Given the description of an element on the screen output the (x, y) to click on. 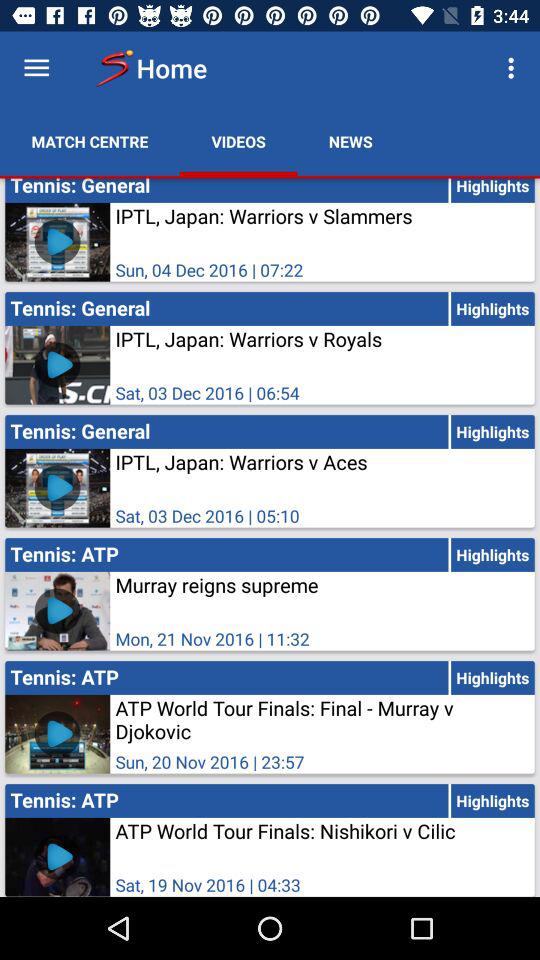
see menu (36, 68)
